Given the description of an element on the screen output the (x, y) to click on. 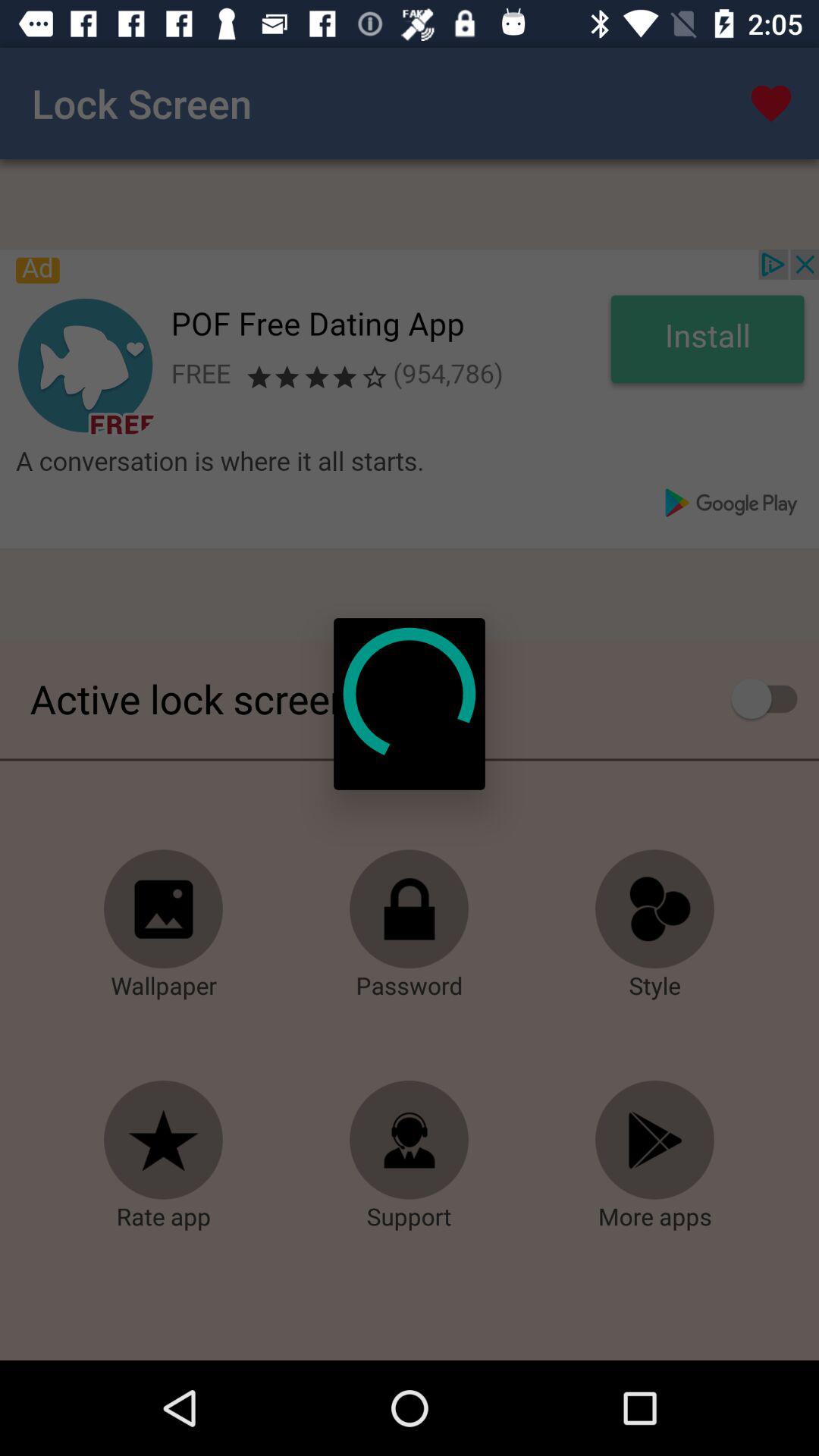
click the support option (409, 1140)
